Given the description of an element on the screen output the (x, y) to click on. 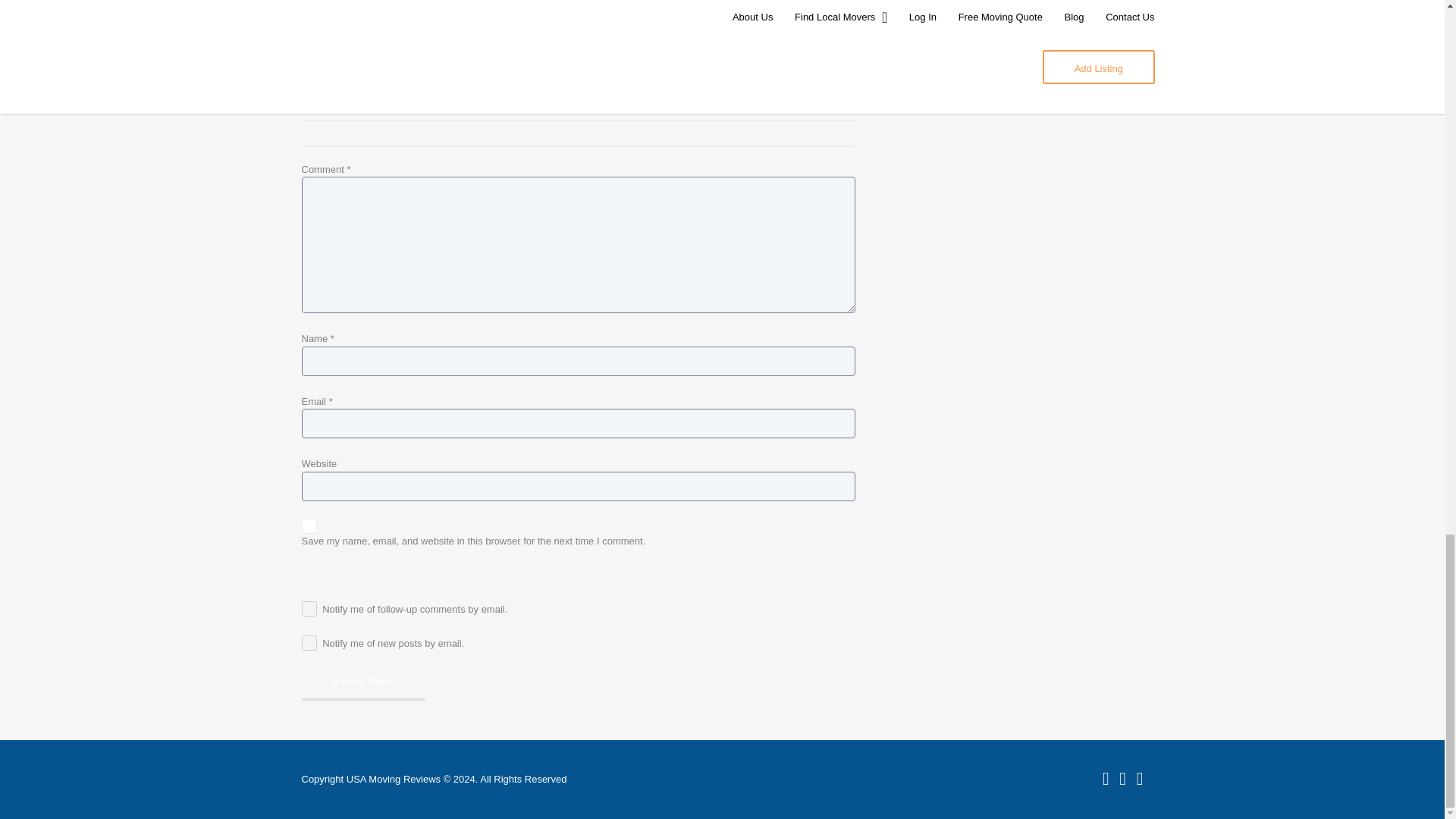
Submit Reply (363, 680)
subscribe (309, 642)
subscribe (309, 607)
yes (309, 525)
